Given the description of an element on the screen output the (x, y) to click on. 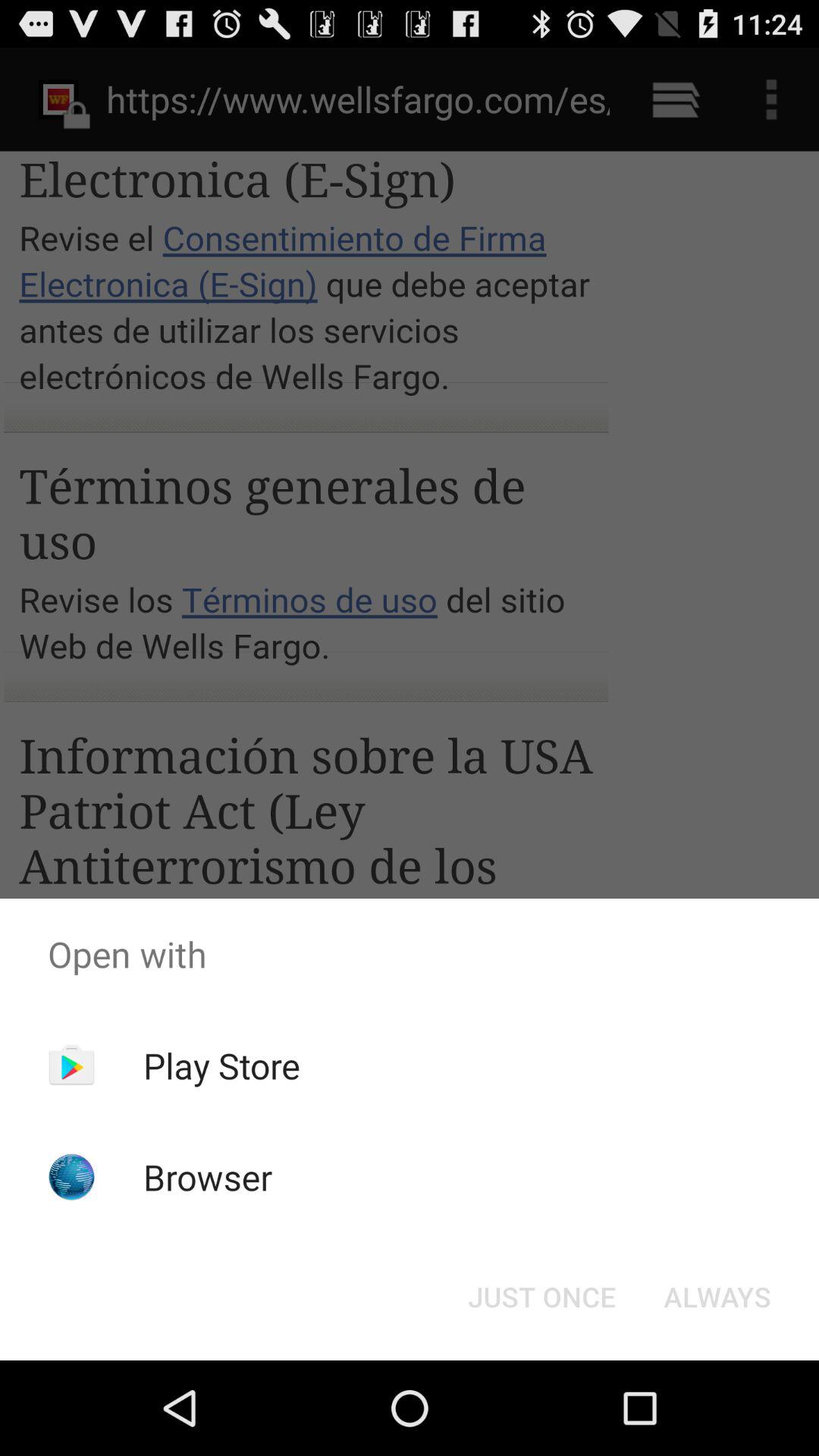
open the always at the bottom right corner (717, 1296)
